Given the description of an element on the screen output the (x, y) to click on. 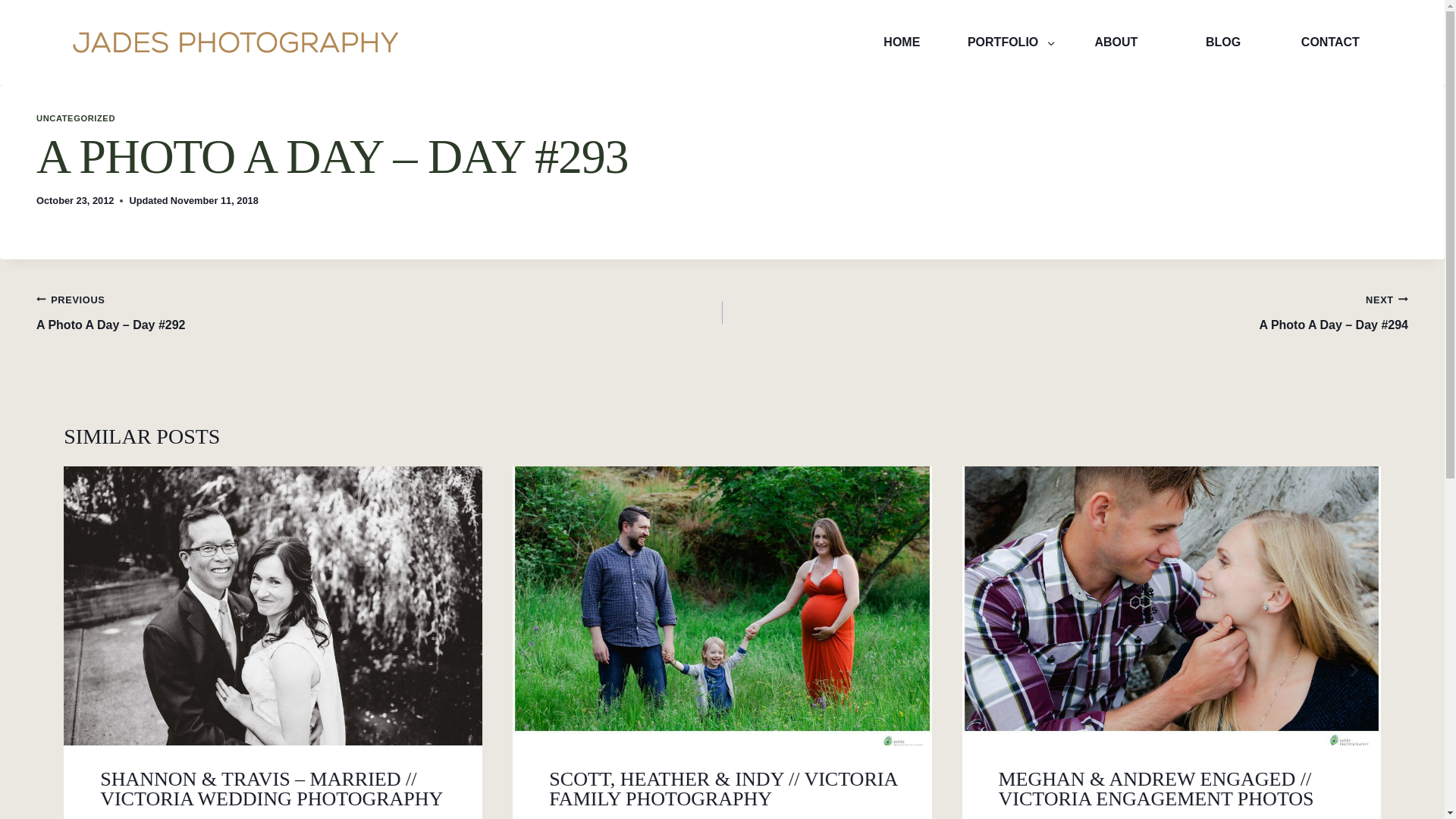
HOME (901, 42)
CONTACT (1330, 42)
UNCATEGORIZED (75, 117)
PORTFOLIO (1008, 42)
BLOG (1222, 42)
ABOUT (1115, 42)
